Given the description of an element on the screen output the (x, y) to click on. 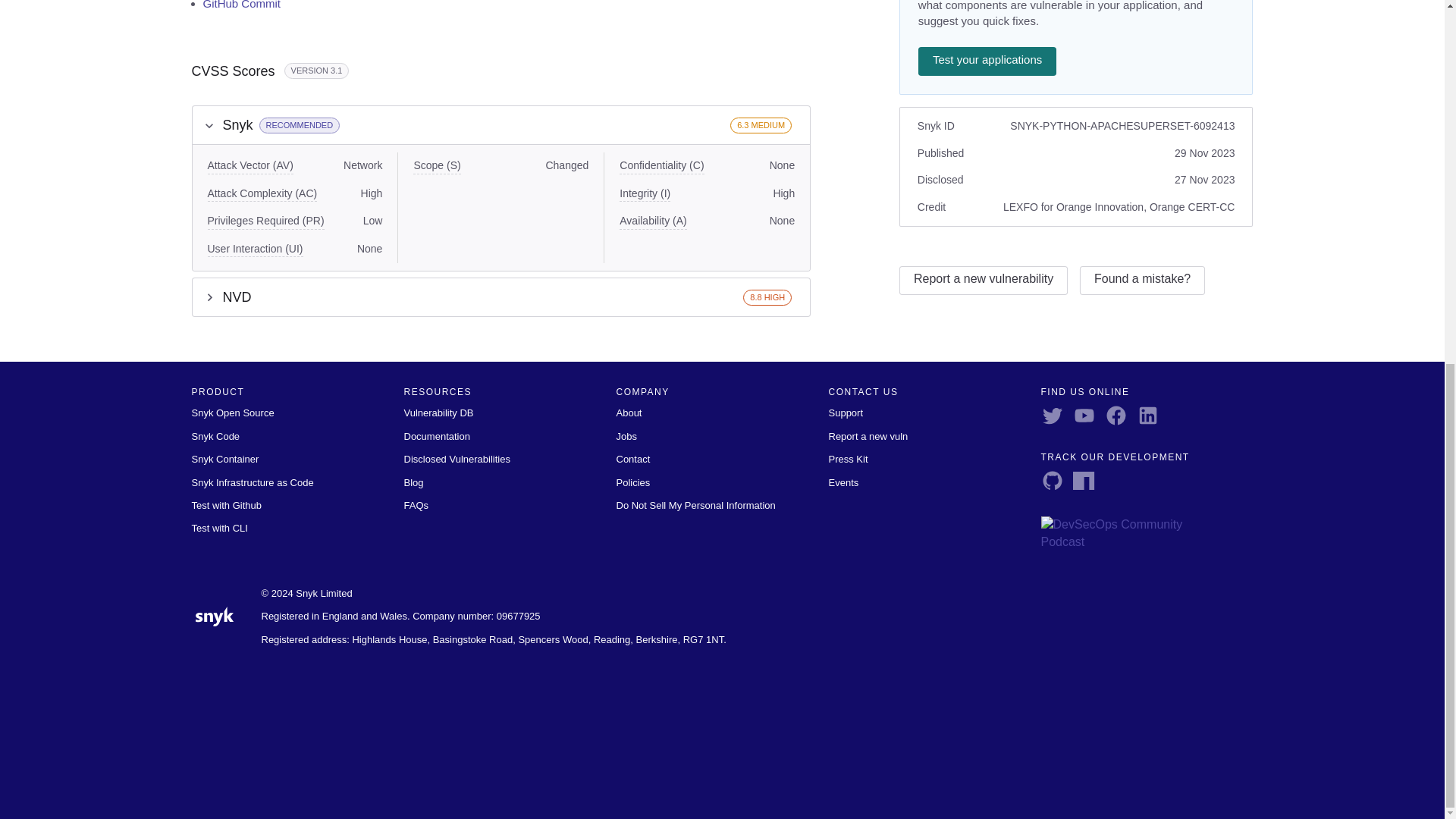
NPM (1087, 478)
Snyk Open Source (231, 412)
Report a new vuln (867, 436)
Snyk Infrastructure as Code (251, 482)
Snyk Code (215, 436)
Twitter (1056, 414)
Contact (632, 459)
Jobs (625, 436)
Vulnerability DB (438, 412)
Disclosed Vulnerabilities (456, 459)
